Given the description of an element on the screen output the (x, y) to click on. 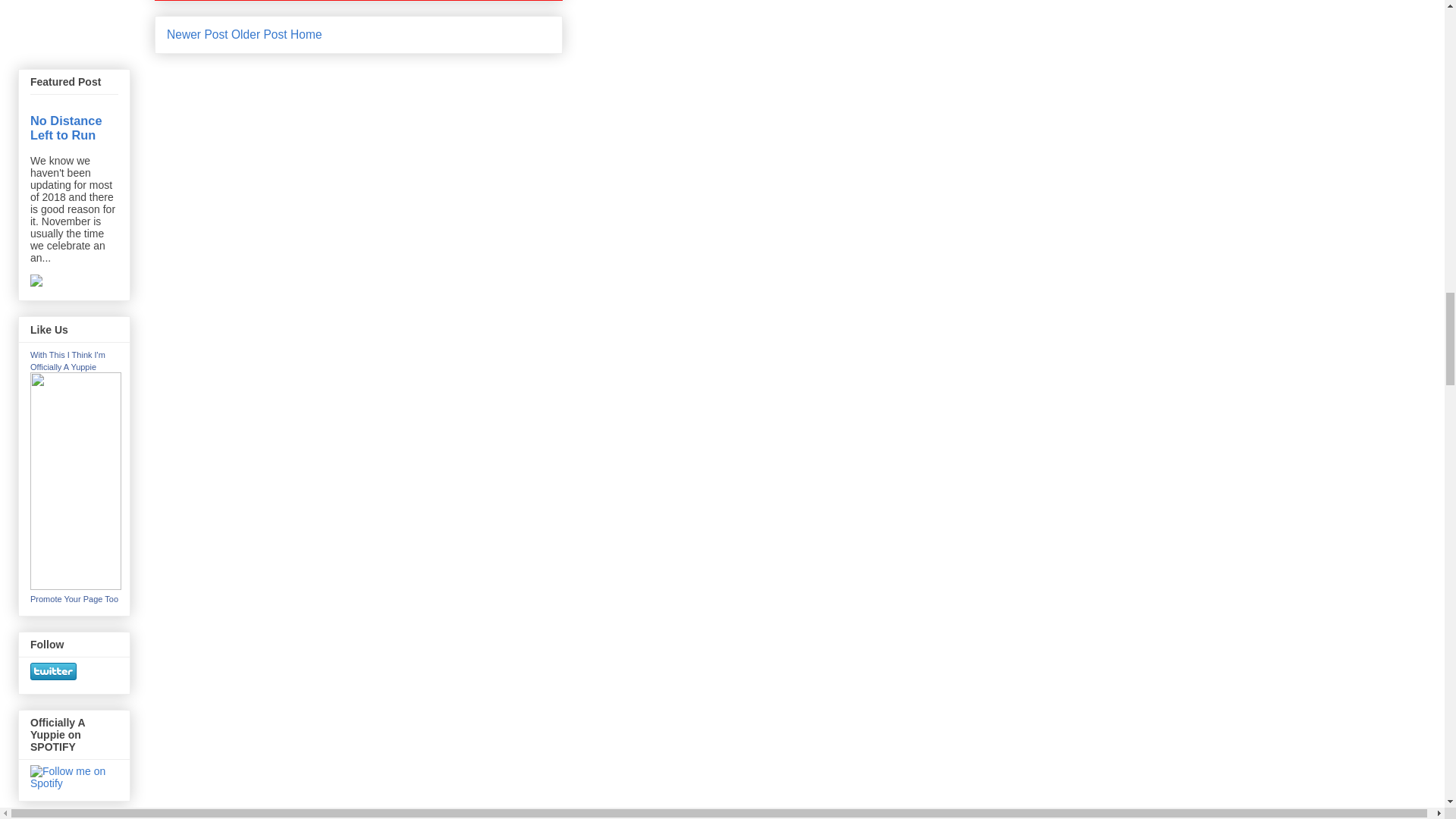
Follow me on Spotify (73, 776)
Newer Post (197, 33)
Newer Post (197, 33)
Promote Your Page Too (73, 598)
Make your own badge! (73, 598)
With This I Think I'm Officially A Yuppie (67, 360)
With This I Think I'm Officially A Yuppie (75, 585)
Older Post (258, 33)
Older Post (258, 33)
With This I Think I'm Officially A Yuppie (67, 360)
No Distance Left to Run (65, 127)
Home (305, 33)
